Given the description of an element on the screen output the (x, y) to click on. 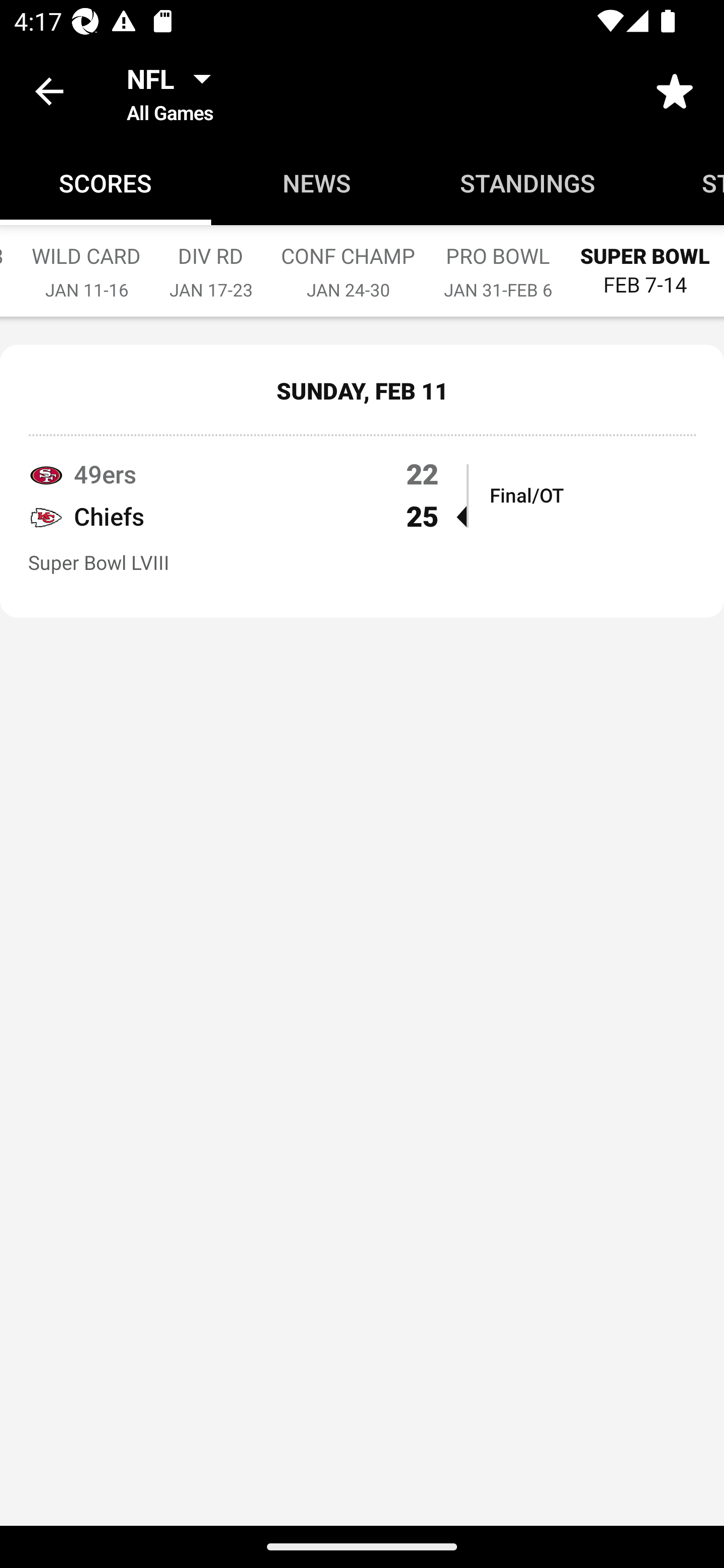
NFL All Games (174, 90)
Favorite toggle (674, 90)
News NEWS (316, 183)
Standings STANDINGS (527, 183)
WILD CARD JAN 11-16 (85, 262)
DIV RD JAN 17-23 (210, 262)
CONF CHAMP JAN 24-30 (347, 262)
PRO BOWL JAN 31-FEB 6 (497, 262)
SUPER BOWL FEB 7-14 (645, 261)
SUNDAY, FEB 11 (362, 389)
49ers 22 Chiefs 25  Final/OT Super Bowl LVIII (362, 524)
